Given the description of an element on the screen output the (x, y) to click on. 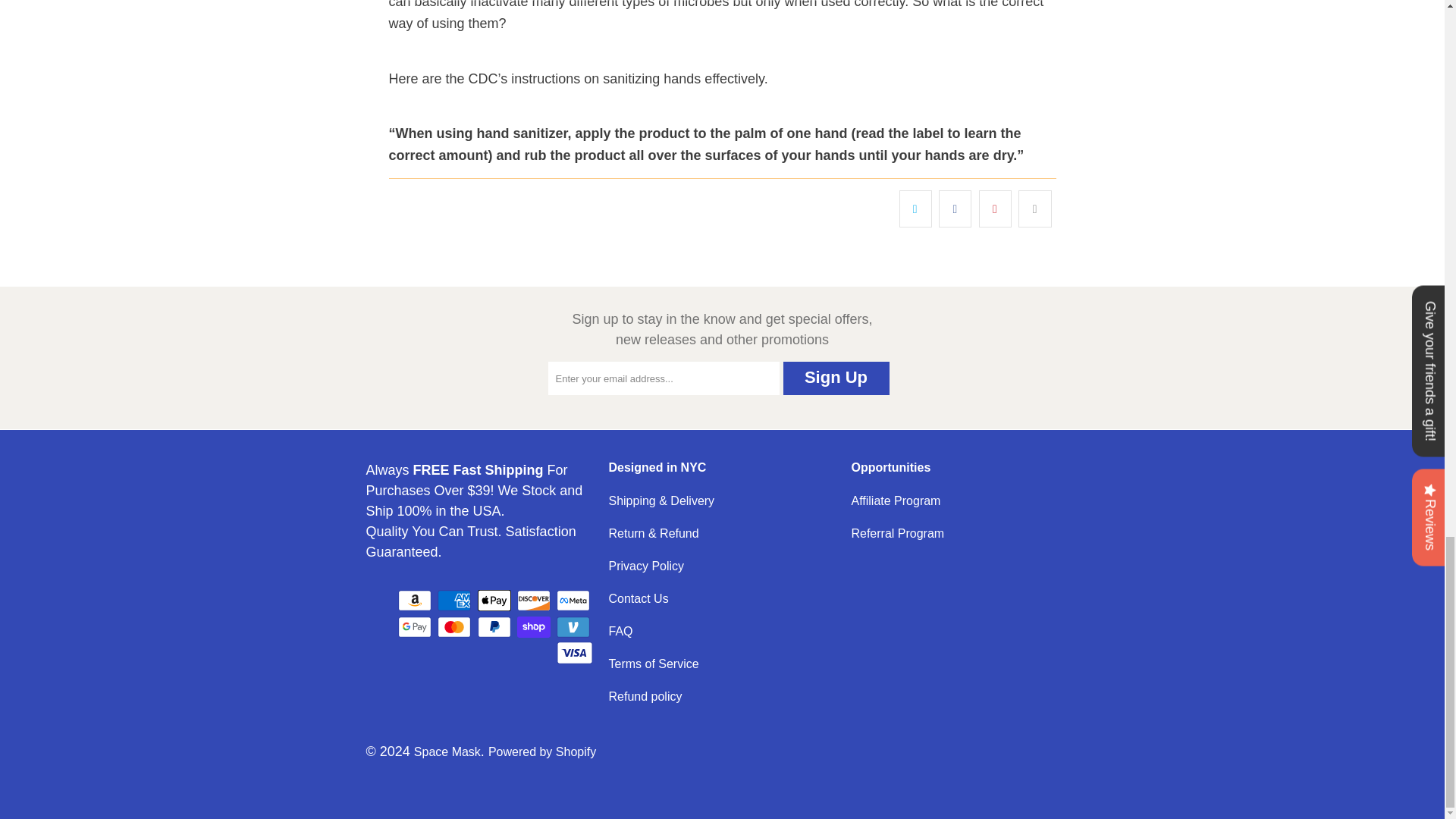
Sign Up (835, 377)
Apple Pay (495, 599)
Meta Pay (574, 599)
Terms of Service (653, 663)
Sign Up (835, 377)
Venmo (574, 626)
Mastercard (456, 626)
Visa (574, 652)
Google Pay (415, 626)
Referral Program (896, 533)
Amazon (415, 599)
American Express (456, 599)
FAQ (619, 631)
Space Mask (446, 751)
Privacy Policy (646, 565)
